Given the description of an element on the screen output the (x, y) to click on. 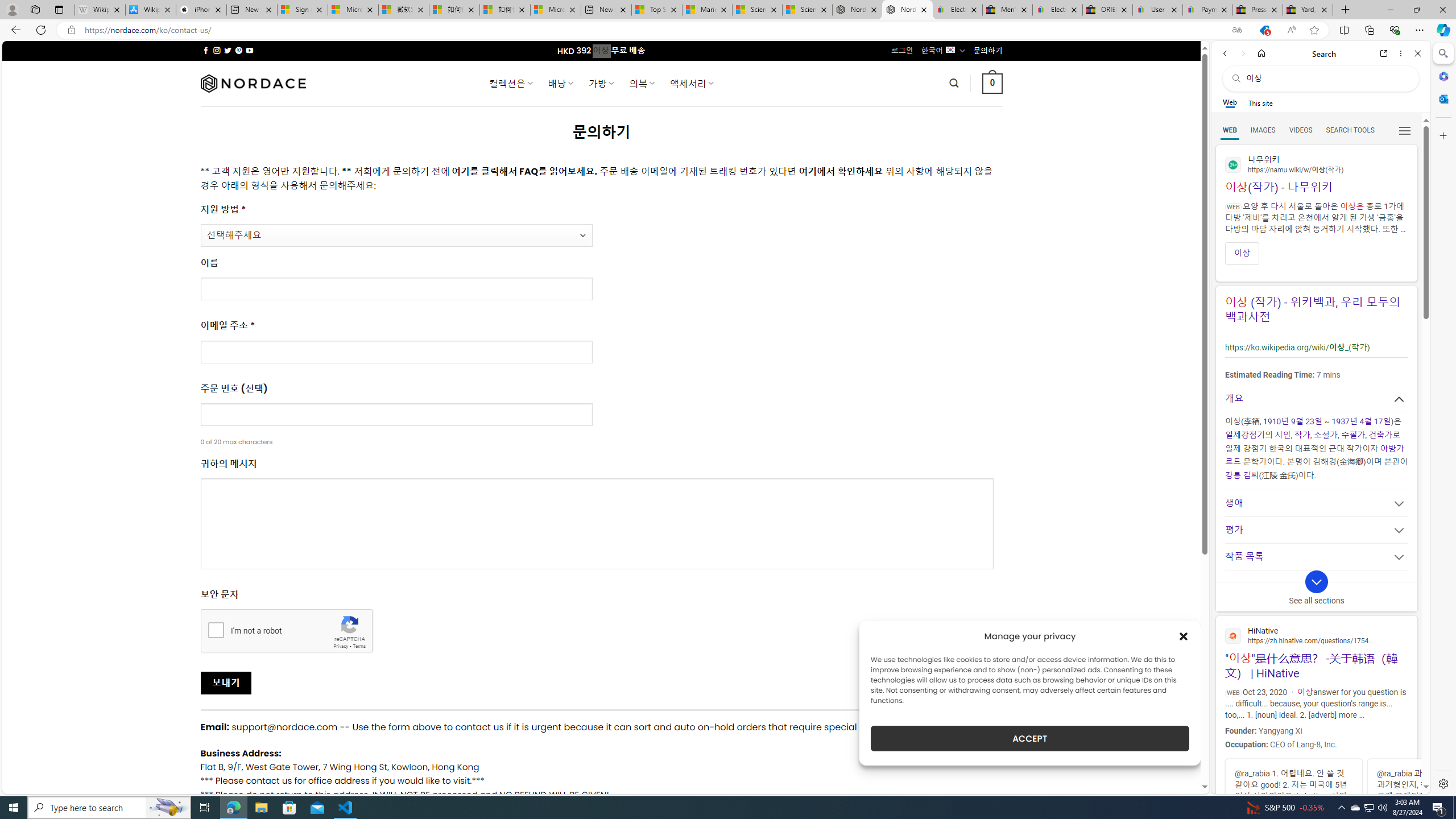
 0  (992, 83)
Press Room - eBay Inc. (1257, 9)
ACCEPT (1029, 738)
  0   (992, 83)
Search Filter, VIDEOS (1300, 129)
